Given the description of an element on the screen output the (x, y) to click on. 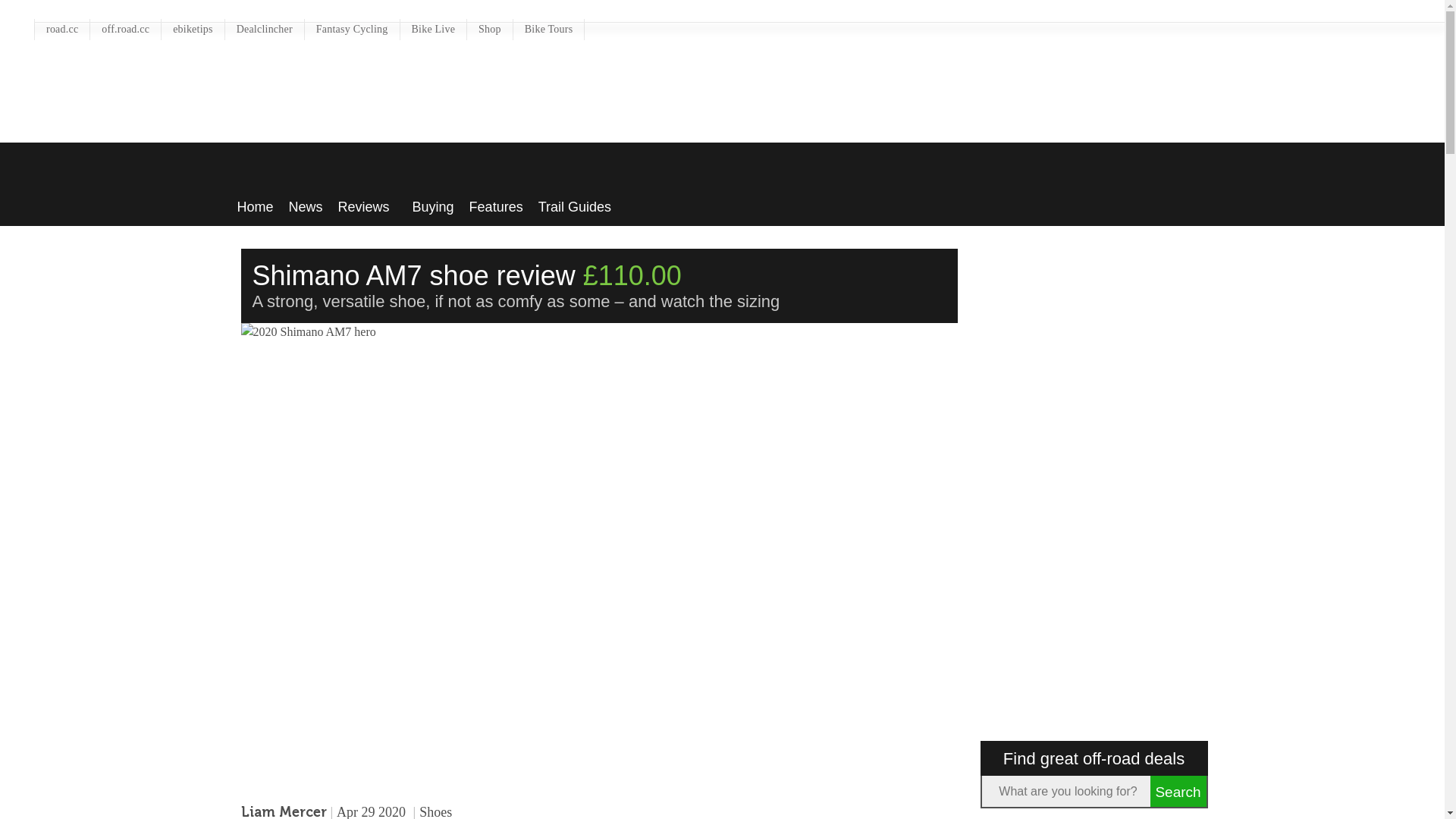
ebiketips (192, 28)
News (305, 202)
road.cc (61, 28)
Fantasy Cycling (351, 28)
Bike Live (433, 28)
Shop (489, 28)
Dealclincher (264, 28)
Reviews (367, 202)
Bike Tours (549, 28)
